Given the description of an element on the screen output the (x, y) to click on. 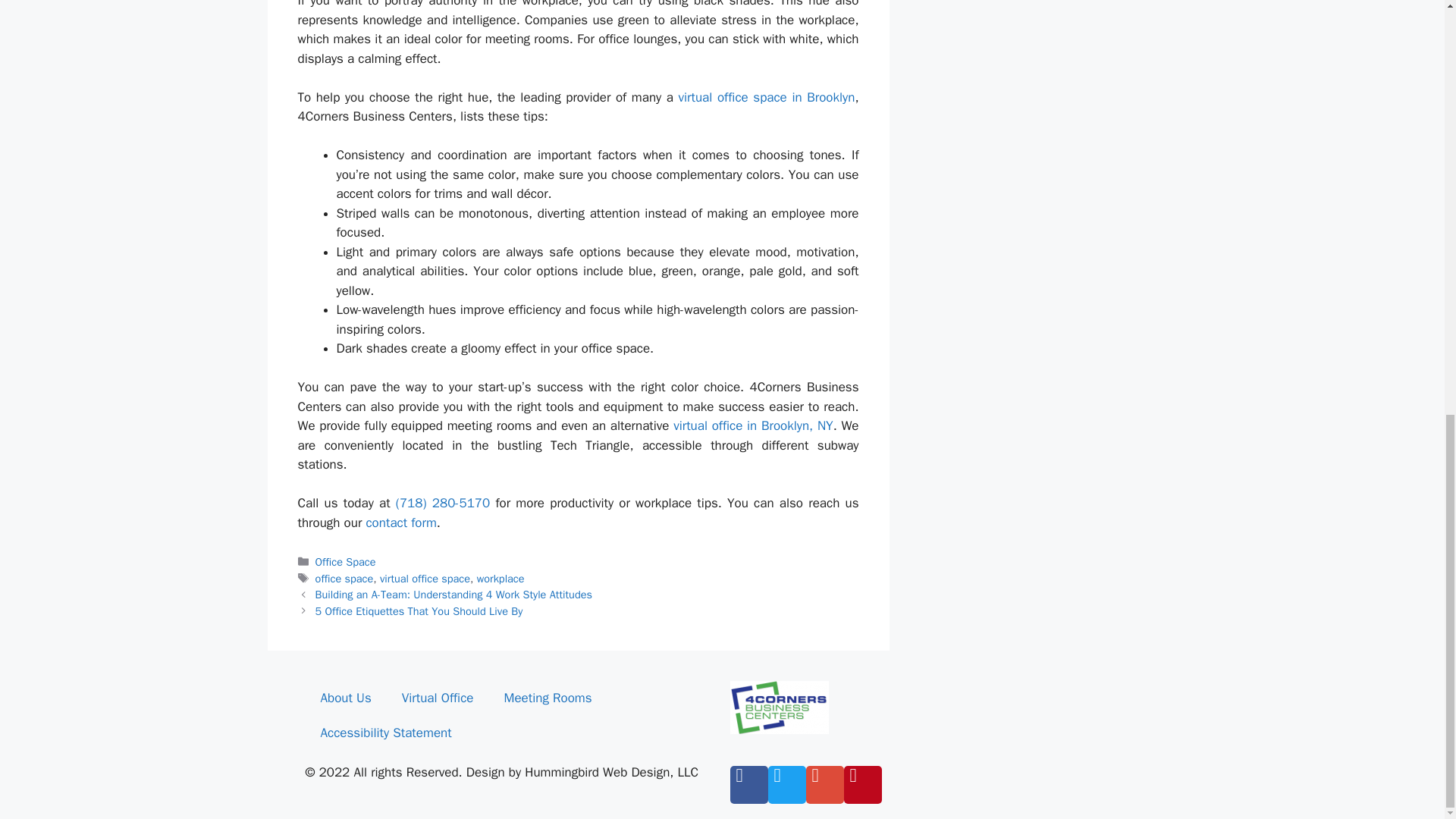
Next (418, 611)
virtual office space in Brooklyn (767, 97)
Building an A-Team: Understanding 4 Work Style Attitudes (453, 594)
5 Office Etiquettes That You Should Live By (418, 611)
virtual office in Brooklyn, NY (752, 425)
Previous (453, 594)
virtual office space (425, 578)
cropped-4-corners-business-center.png (778, 706)
Office Space (345, 561)
office space (344, 578)
contact form (400, 522)
workplace (500, 578)
